Given the description of an element on the screen output the (x, y) to click on. 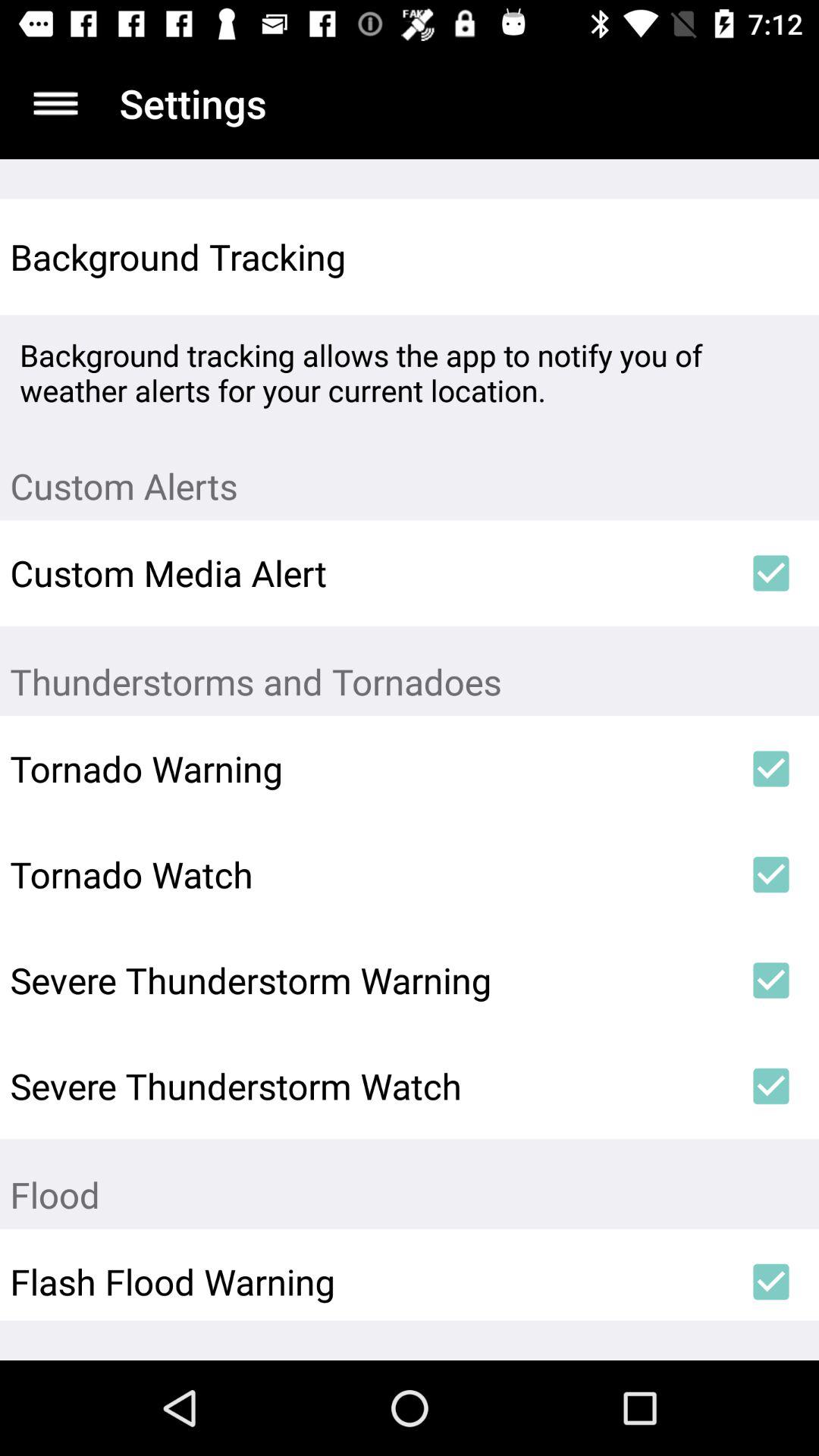
open menu (55, 103)
